Given the description of an element on the screen output the (x, y) to click on. 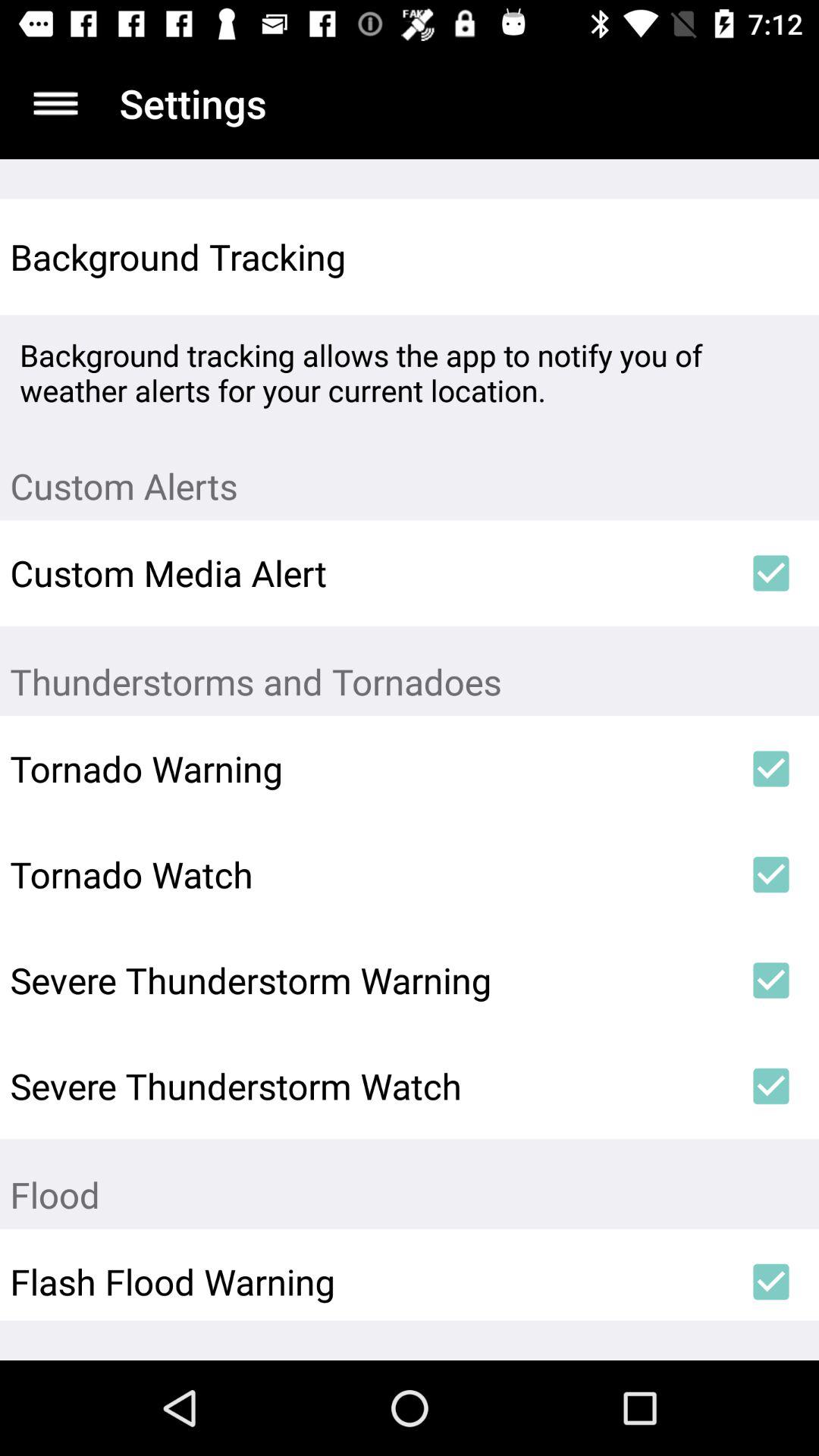
open menu (55, 103)
